Given the description of an element on the screen output the (x, y) to click on. 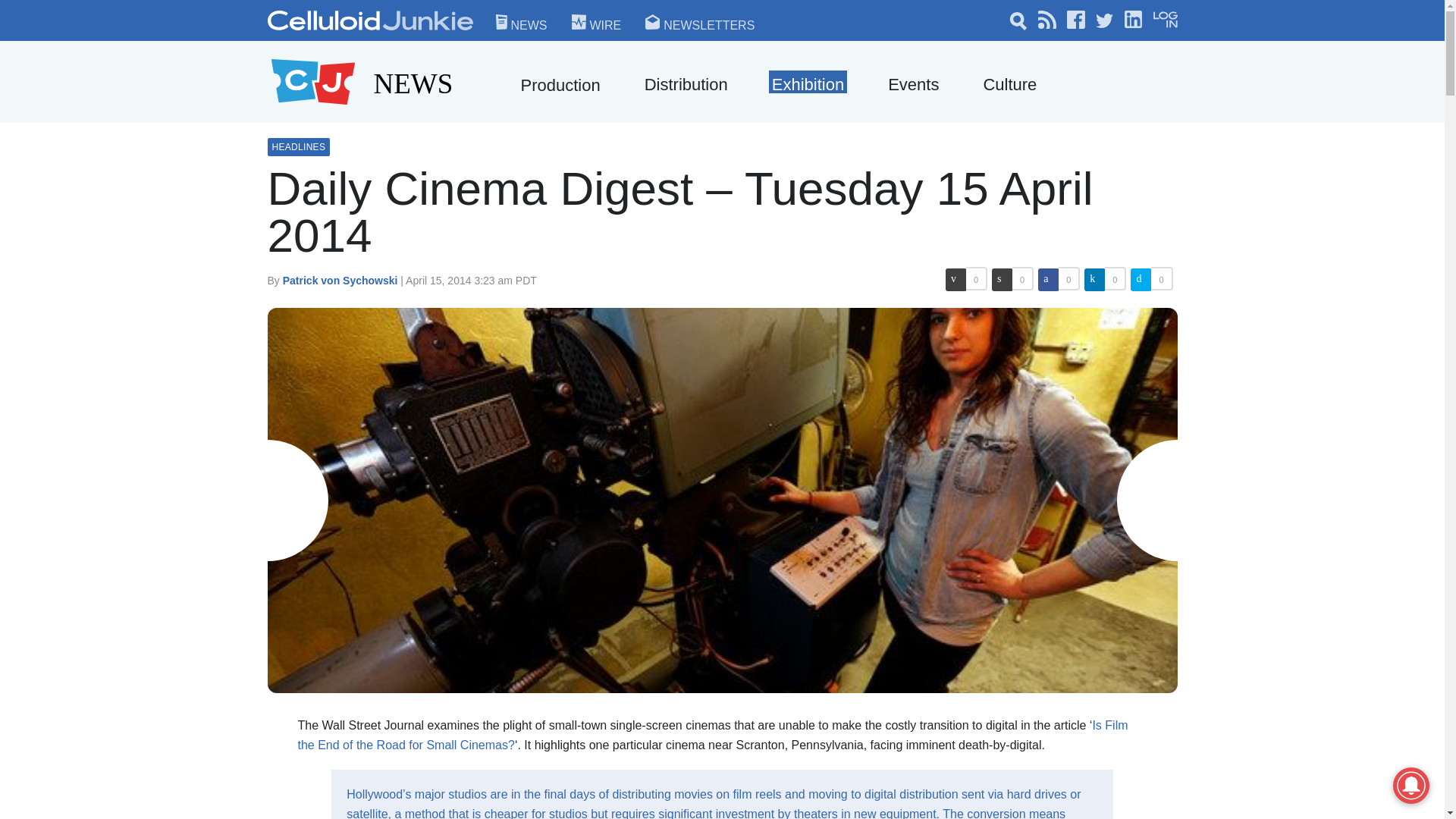
NEWSLETTERS (699, 21)
CELLULOID JUNKIE (437, 38)
WIRE (596, 21)
Share on Facebook (1048, 279)
Small town cinemas face extinction as studios go digital (711, 735)
Production (559, 85)
Share on Twitter (1141, 279)
Distribution (686, 84)
Share on Print (1002, 279)
Log In (1091, 192)
Share on Email (955, 279)
Share on LinkedIn (1094, 279)
NEWS (412, 81)
NEWS (521, 21)
GO (983, 19)
